Given the description of an element on the screen output the (x, y) to click on. 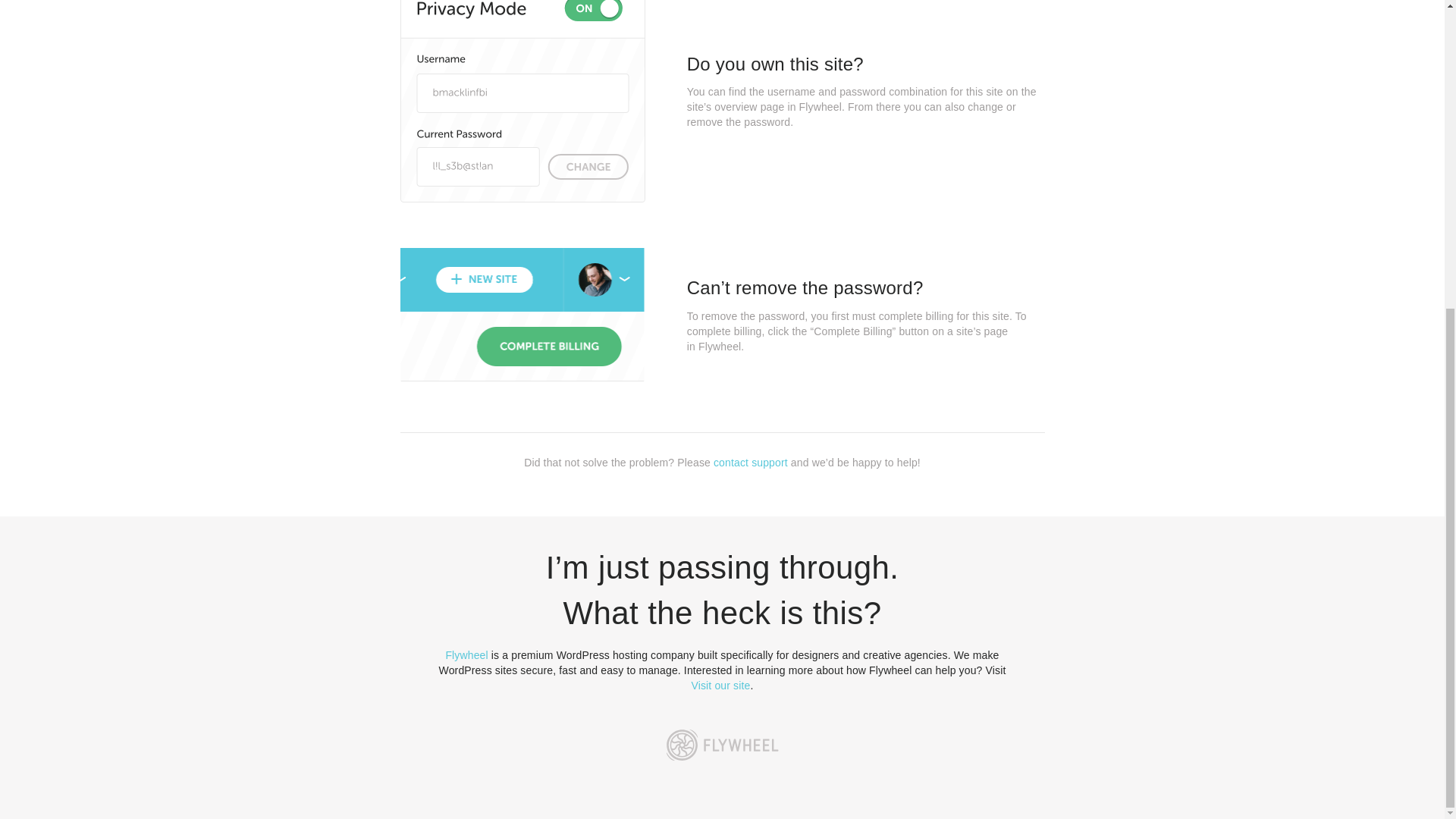
Flywheel (466, 654)
contact support (750, 462)
Visit our site (721, 685)
